Given the description of an element on the screen output the (x, y) to click on. 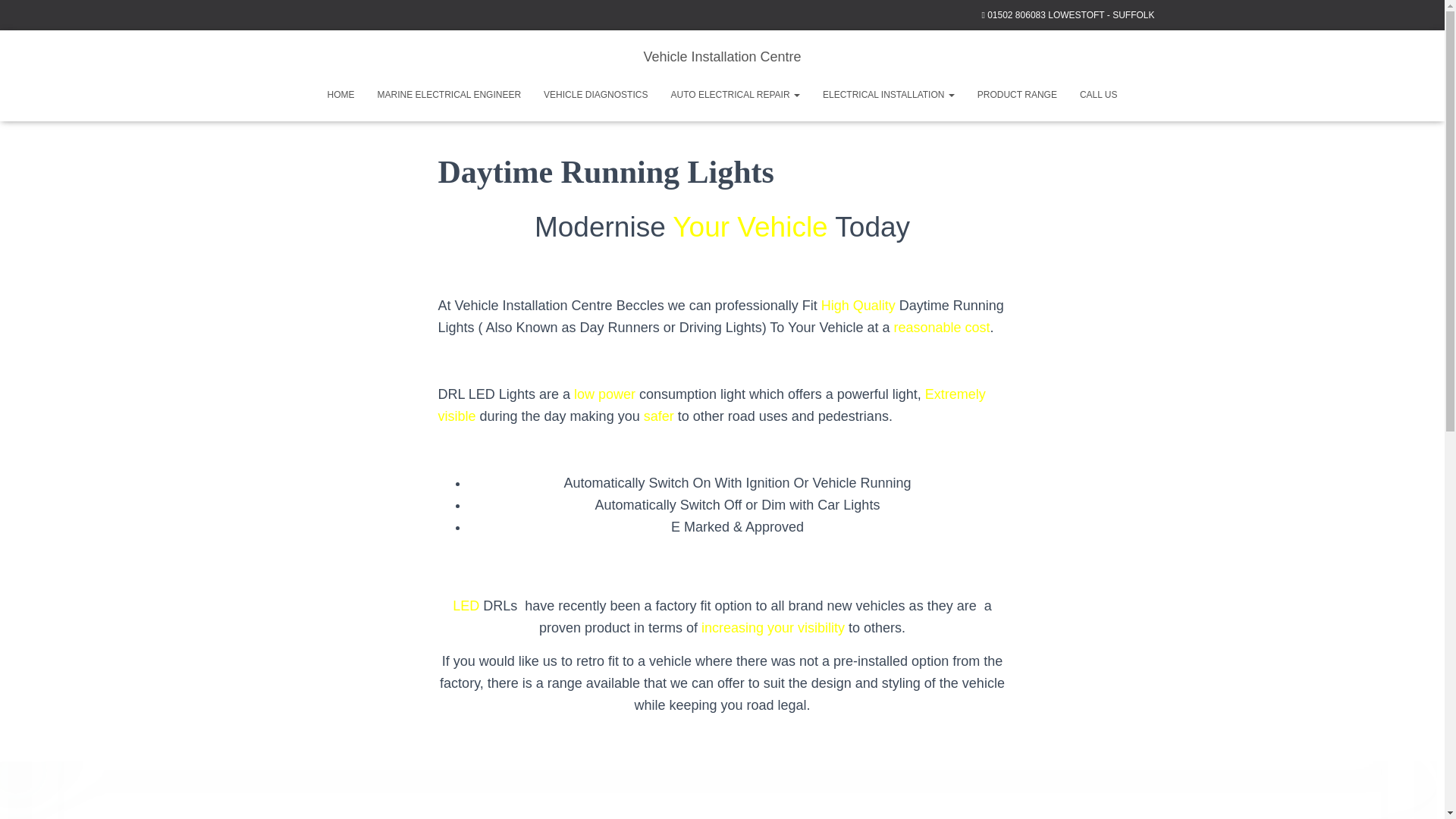
AUTO ELECTRICAL REPAIR (734, 94)
PRODUCT RANGE (1017, 94)
Product Range (1017, 94)
Vehicle Diagnostics (595, 94)
Electrical Installation (888, 94)
Call Us (1098, 94)
Vehicle Installation Centre (721, 56)
Vehicle Installation Centre (721, 56)
ELECTRICAL INSTALLATION (888, 94)
CALL US (1098, 94)
